Given the description of an element on the screen output the (x, y) to click on. 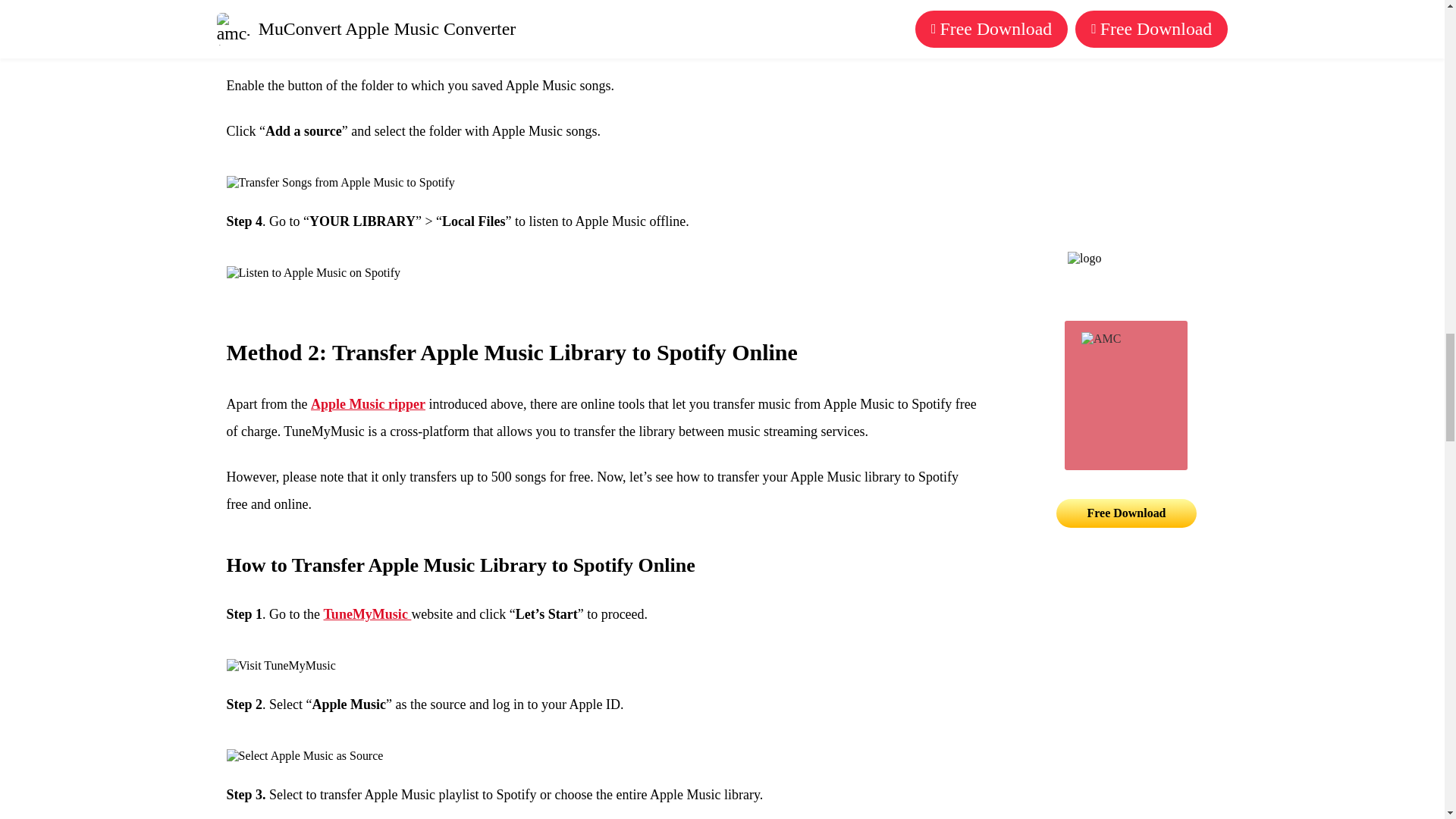
Apple Music ripper (368, 403)
TuneMyMusic (367, 613)
